Given the description of an element on the screen output the (x, y) to click on. 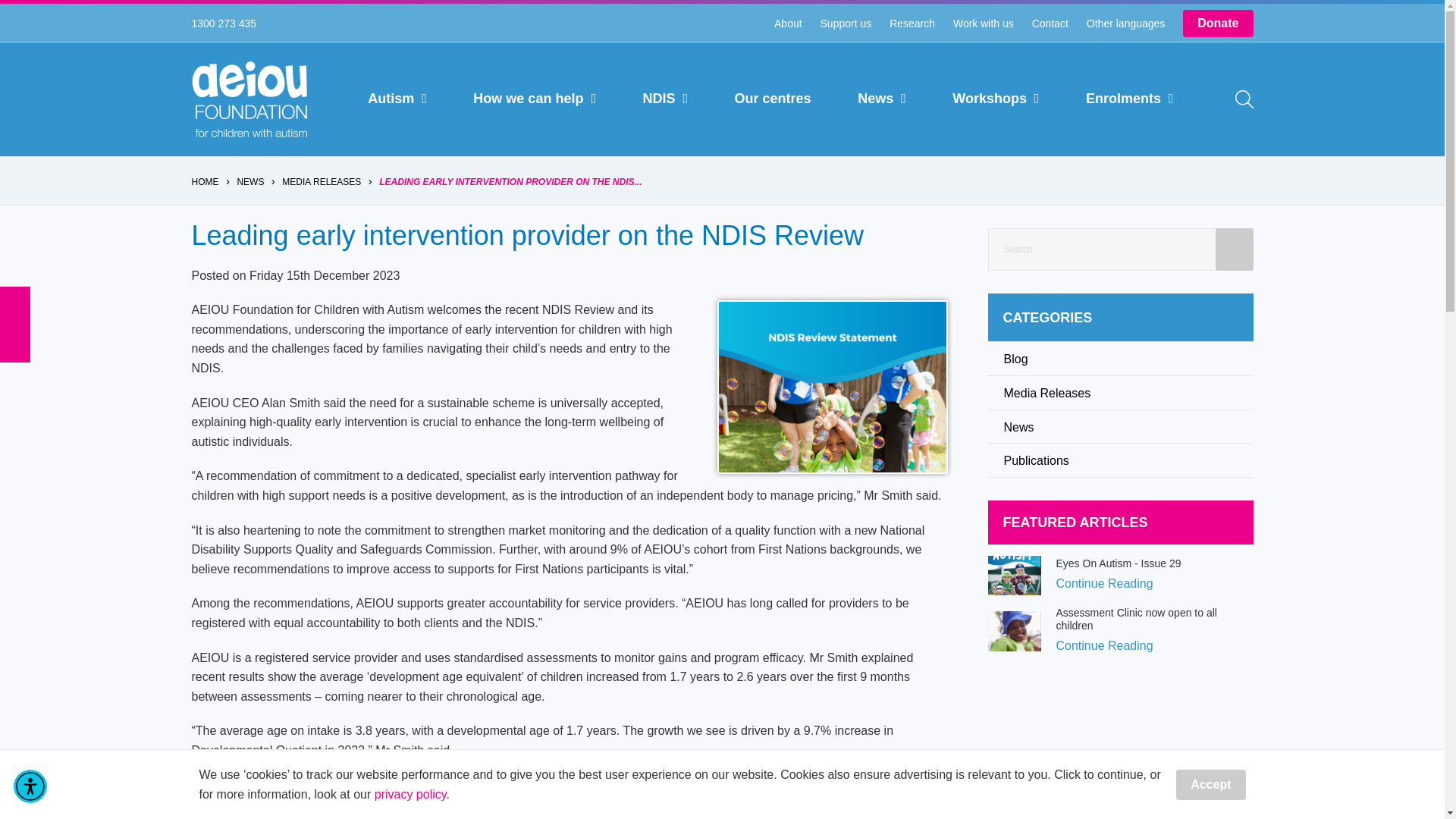
Facebook (15, 294)
Twitter (15, 309)
Instagram (15, 324)
Accessibility Menu (29, 786)
Youtube (15, 339)
LinkedIn (15, 354)
